Given the description of an element on the screen output the (x, y) to click on. 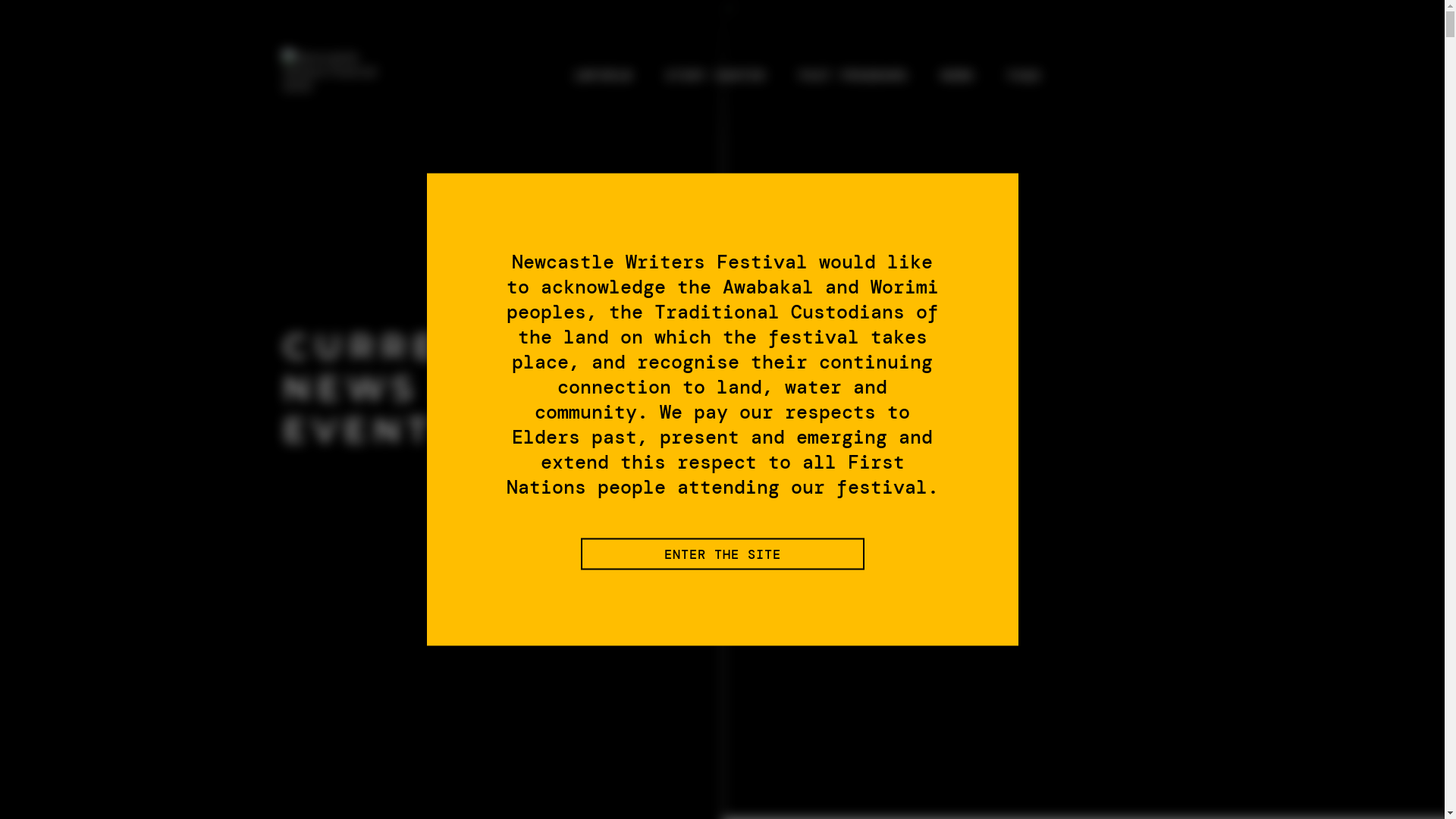
NEWS Element type: text (956, 75)
ENTER THE SITE Element type: text (722, 554)
Newcastle Writers Festival 2023 Element type: hover (338, 71)
10FOR10 Element type: text (602, 75)
PAST PROGRAMS Element type: text (853, 75)
Bottom Element type: text (312, 539)
STORY HUNTER Element type: text (715, 75)
FAQS Element type: text (1023, 75)
Full Menu Element type: text (1131, 74)
